Given the description of an element on the screen output the (x, y) to click on. 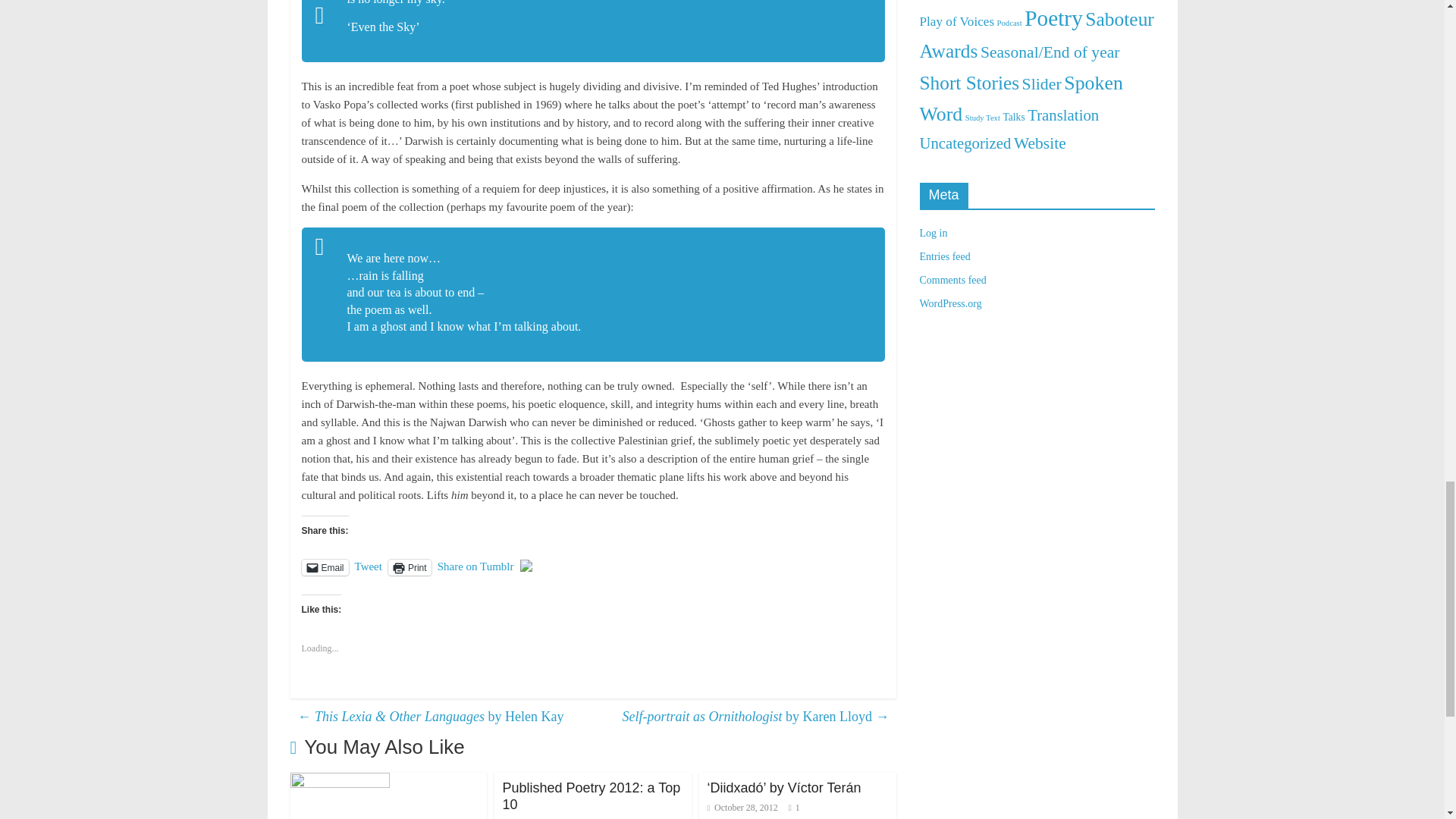
Click to email a link to a friend (325, 567)
Tweet (368, 566)
Email (325, 567)
Share on Tumblr (475, 566)
Print (409, 567)
Share on Tumblr (475, 566)
Click to print (409, 567)
